Given the description of an element on the screen output the (x, y) to click on. 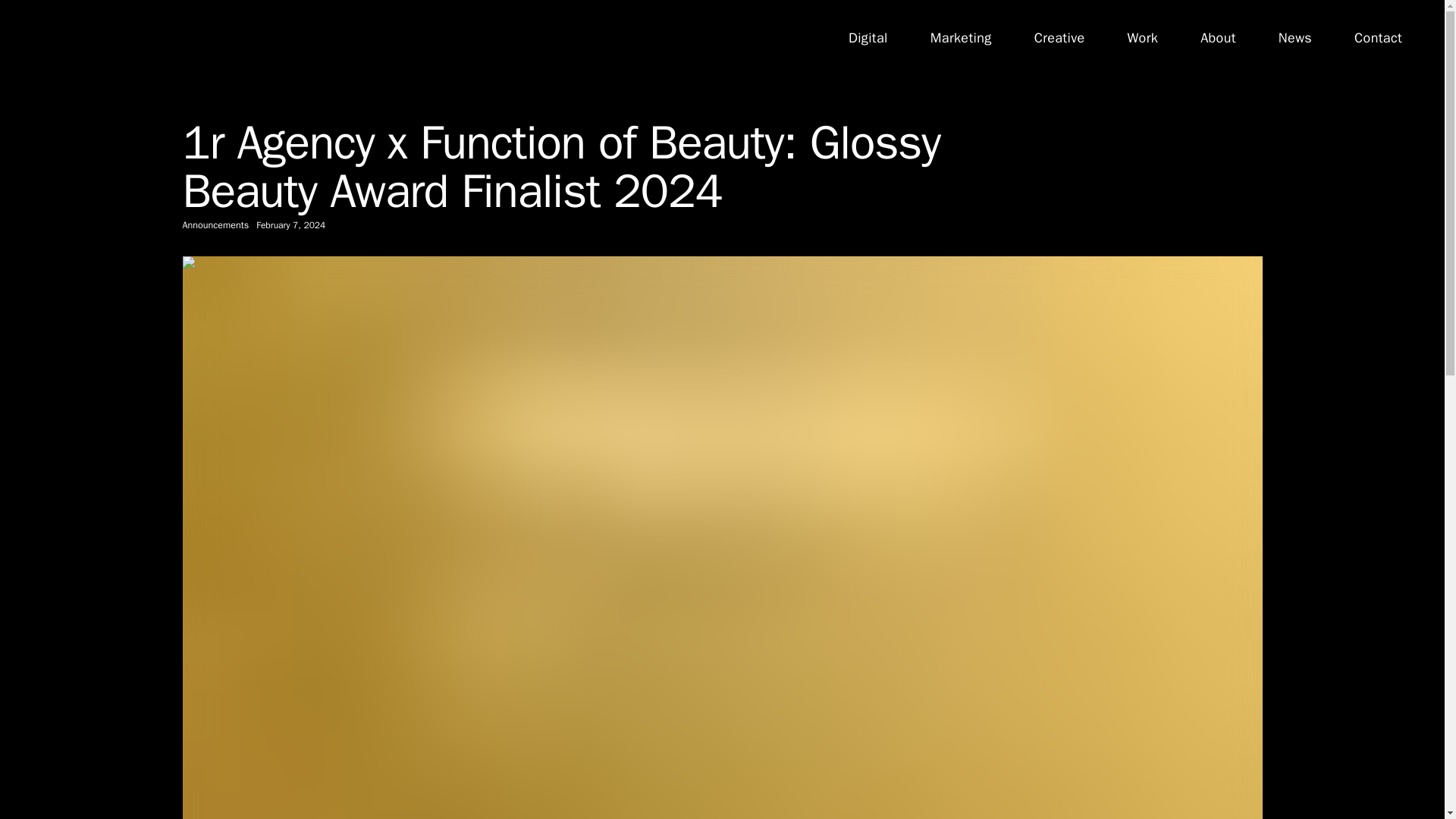
Digital (868, 37)
Work (1141, 37)
News (1294, 37)
Contact (1378, 37)
About (1217, 37)
Creative (1058, 37)
Marketing (960, 37)
